Given the description of an element on the screen output the (x, y) to click on. 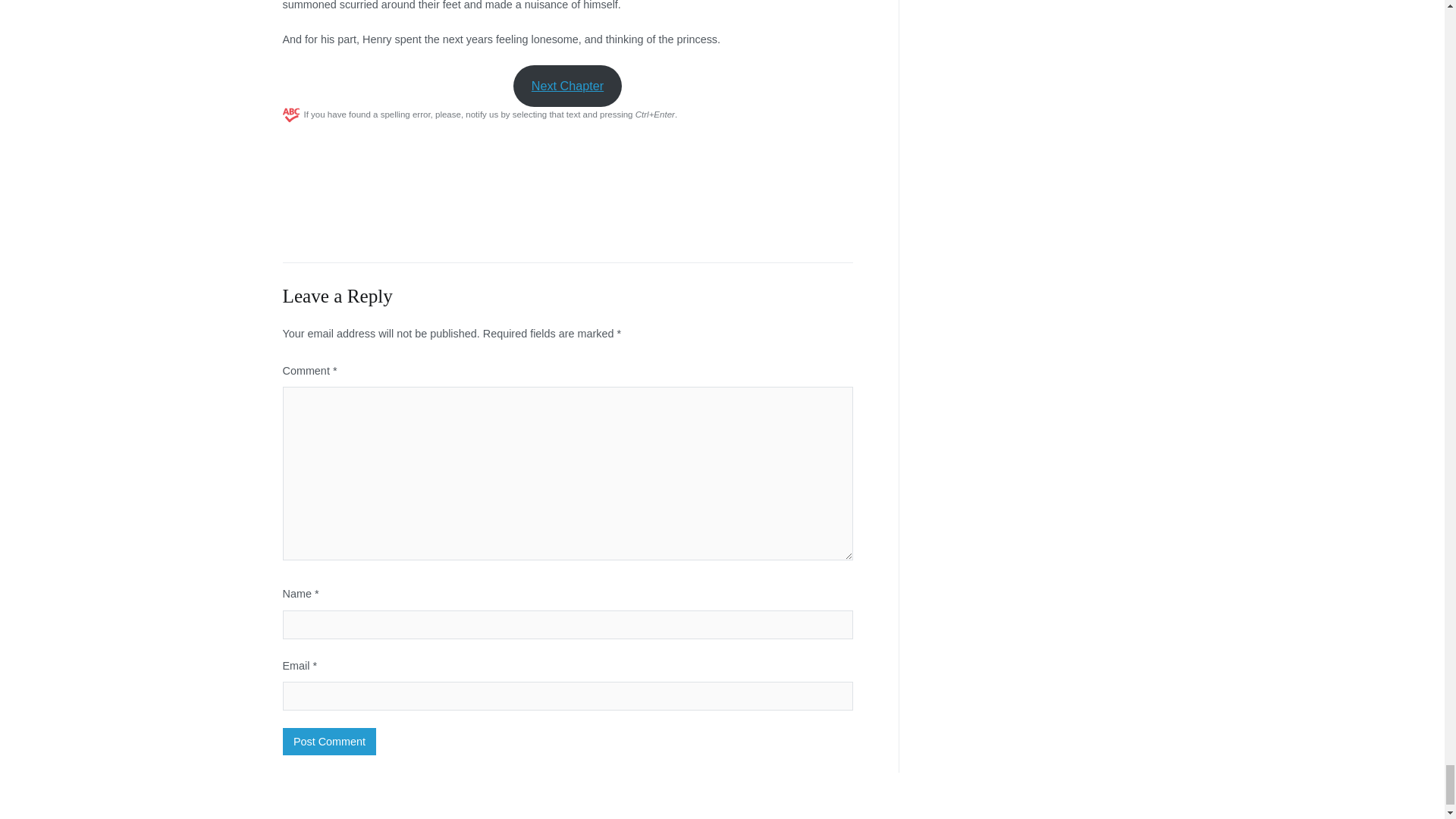
Post Comment (328, 741)
Post Comment (328, 741)
Next Chapter (567, 86)
